Given the description of an element on the screen output the (x, y) to click on. 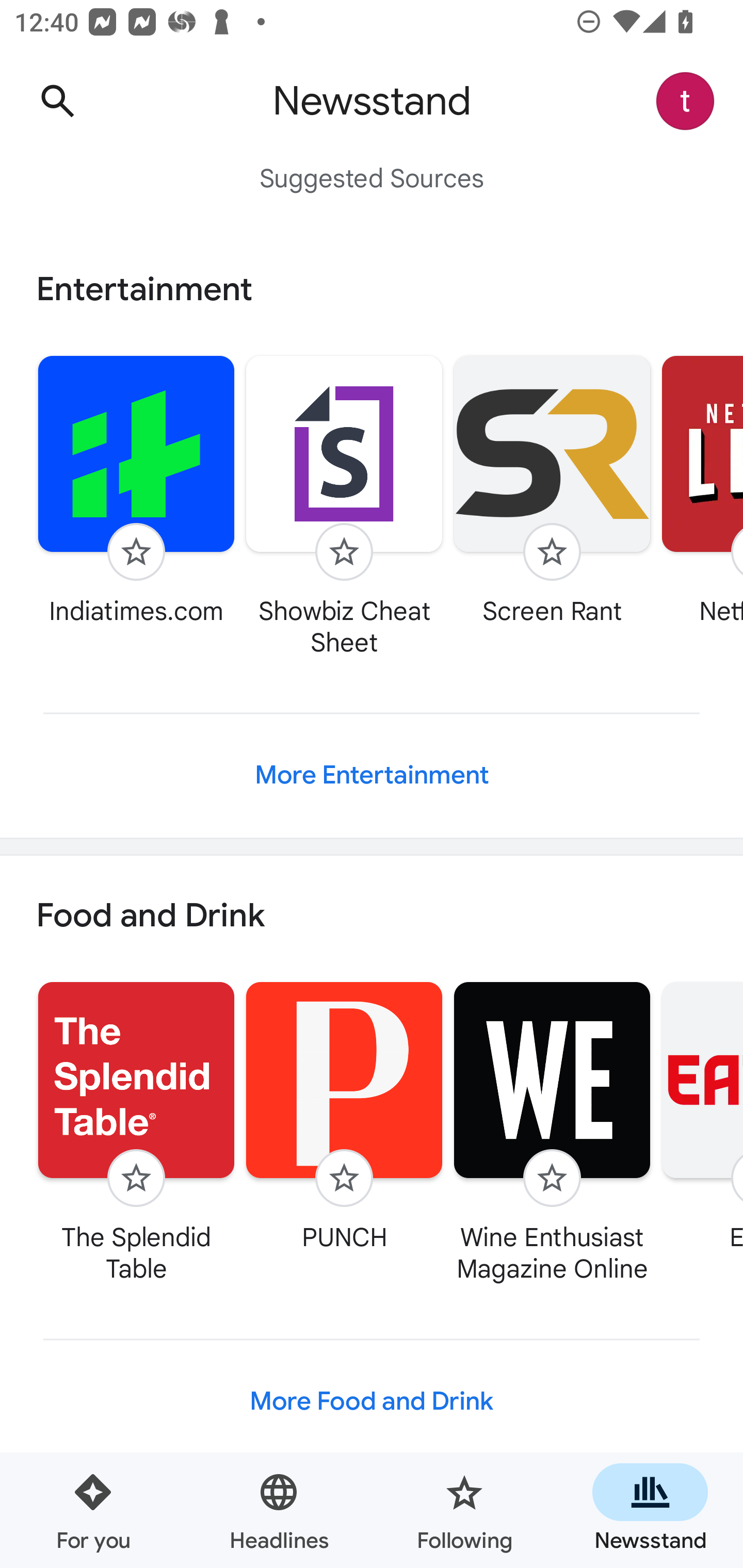
Search (57, 100)
Entertainment (371, 288)
Follow Indiatimes.com (136, 489)
Follow Showbiz Cheat Sheet (344, 505)
Follow Screen Rant (552, 489)
Follow (135, 551)
Follow (343, 551)
Follow (552, 551)
More Entertainment (371, 775)
Food and Drink (371, 916)
Follow The Splendid Table (136, 1131)
Follow PUNCH (344, 1115)
Follow Wine Enthusiast Magazine Online (552, 1131)
Follow (135, 1178)
Follow (343, 1178)
Follow (552, 1178)
More Food and Drink (371, 1401)
For you (92, 1509)
Headlines (278, 1509)
Following (464, 1509)
Newsstand (650, 1509)
